Given the description of an element on the screen output the (x, y) to click on. 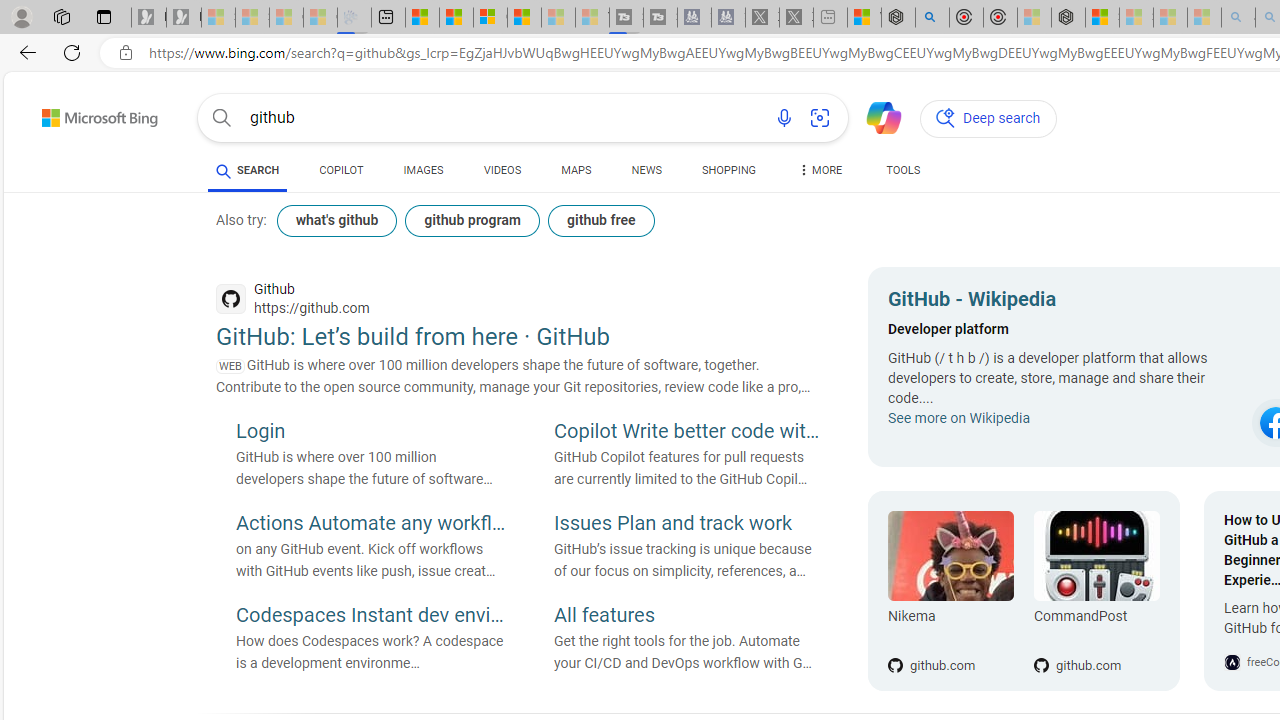
poe - Search (932, 17)
amazon - Search - Sleeping (1238, 17)
Back (24, 52)
IMAGES (423, 170)
COPILOT (341, 173)
Search button (221, 117)
MAPS (576, 170)
